Given the description of an element on the screen output the (x, y) to click on. 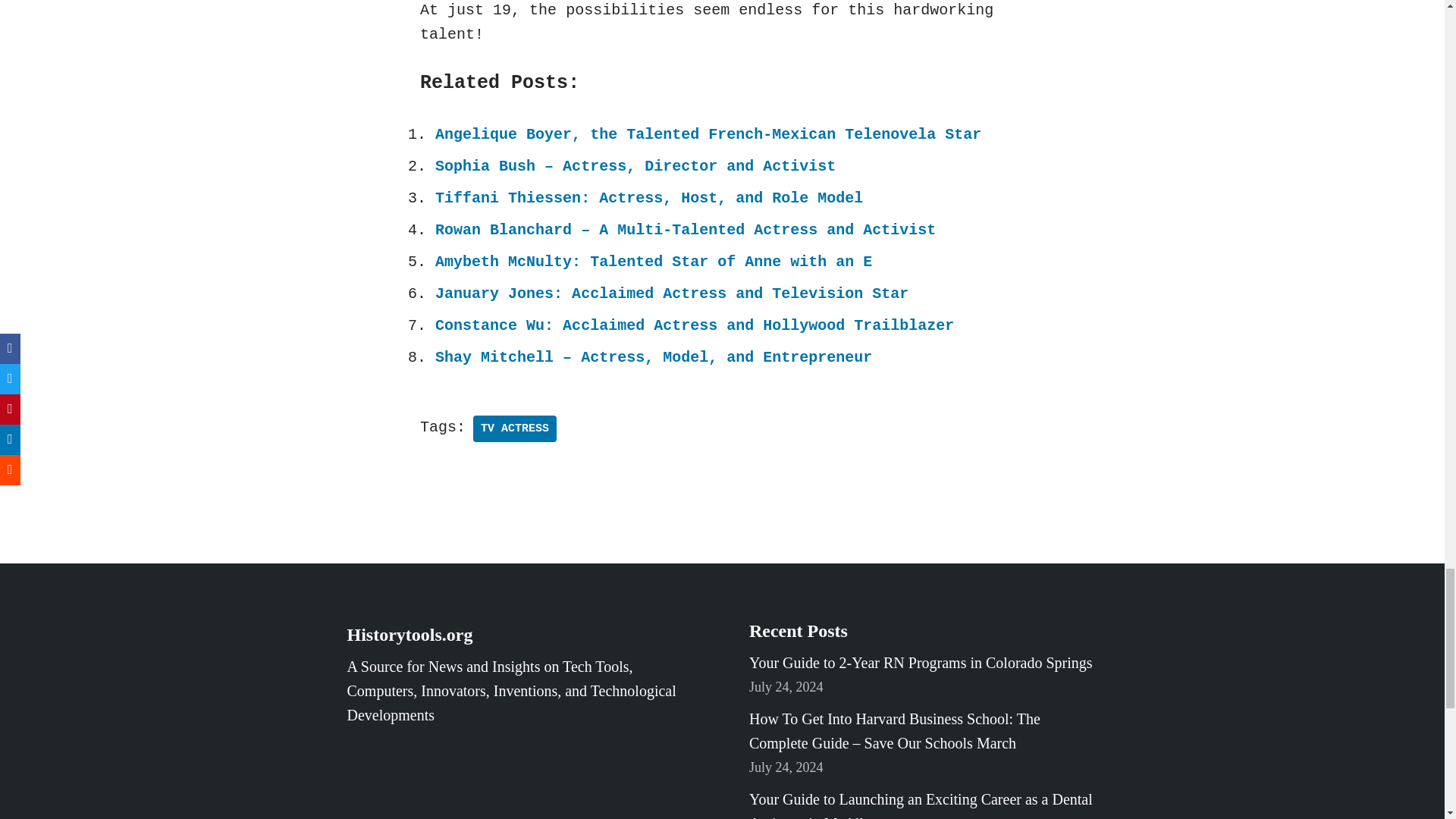
Tiffani Thiessen: Actress, Host, and Role Model (649, 198)
TV Actress (514, 428)
Constance Wu: Acclaimed Actress and Hollywood Trailblazer (694, 325)
Angelique Boyer, the Talented French-Mexican Telenovela Star (708, 134)
January Jones: Acclaimed Actress and Television Star (671, 293)
Amybeth McNulty: Talented Star of Anne with an E (653, 262)
